Given the description of an element on the screen output the (x, y) to click on. 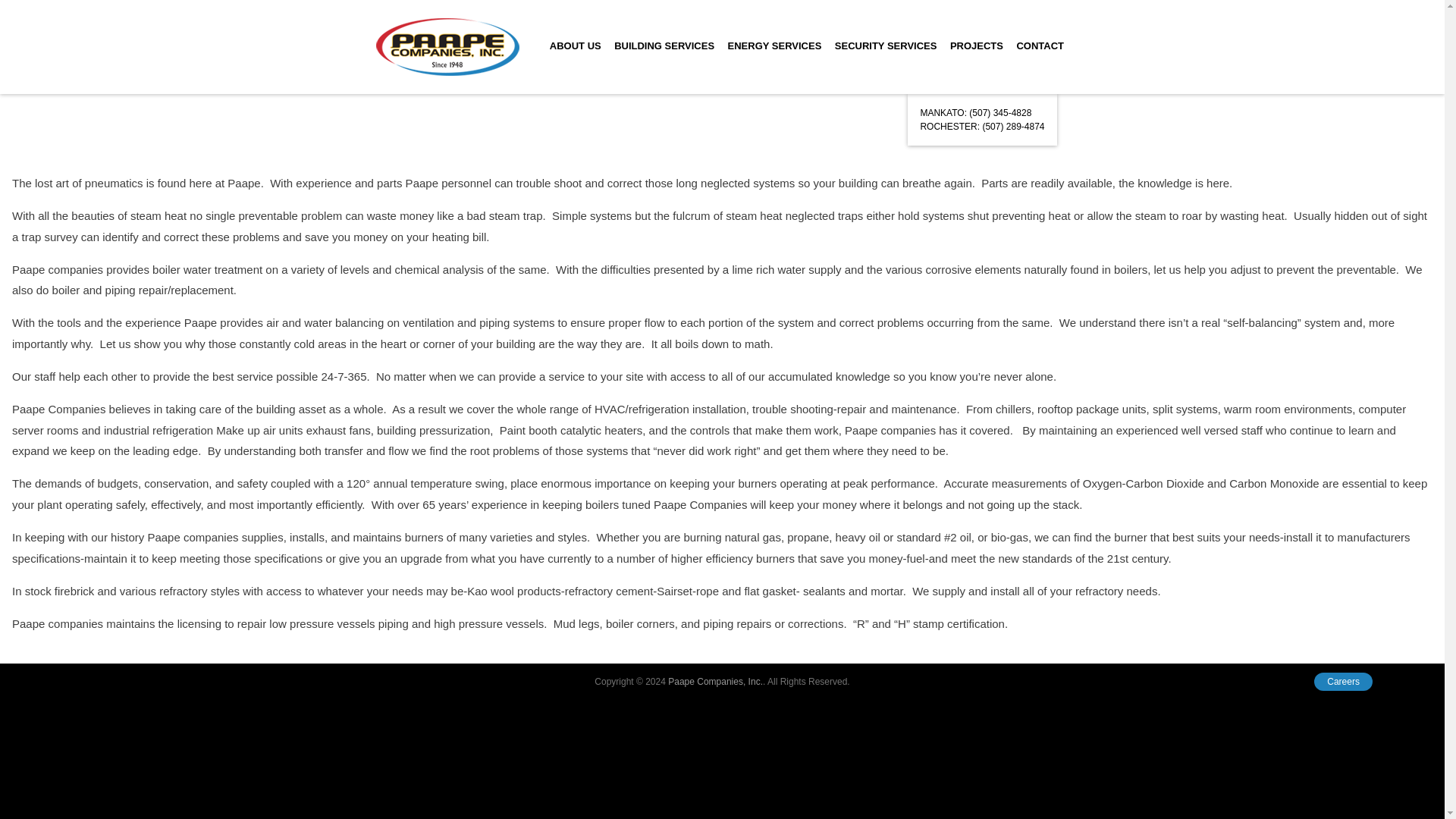
call our Mankato office (981, 112)
SECURITY SERVICES (885, 46)
PROJECTS (975, 46)
ENERGY SERVICES (774, 46)
call our Rochester office (981, 126)
Paape Companies, Inc. (715, 681)
Since 1948 (715, 681)
CONTACT (1039, 46)
ABOUT US (574, 46)
Careers (1342, 681)
BUILDING SERVICES (664, 46)
